Given the description of an element on the screen output the (x, y) to click on. 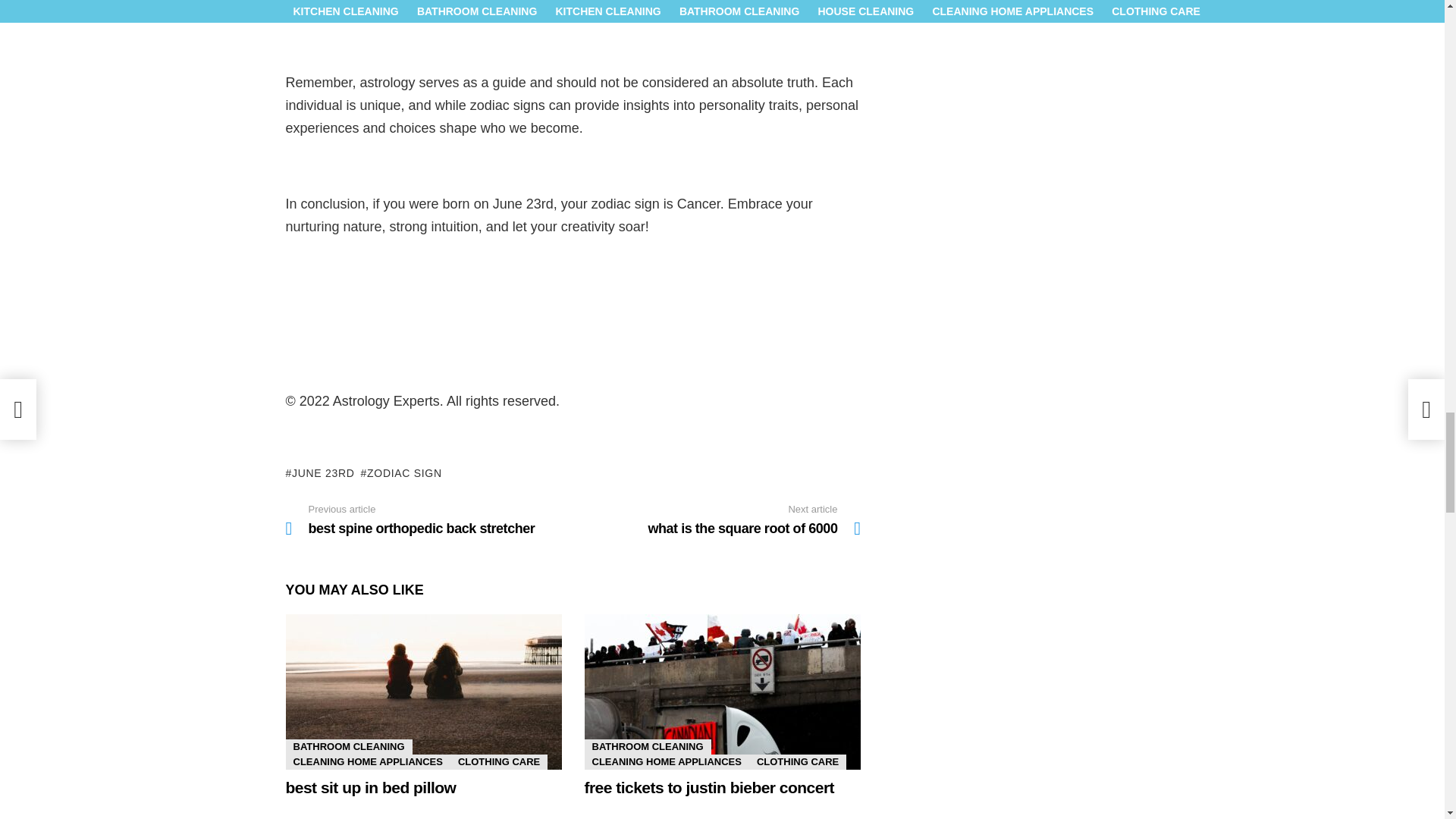
BATHROOM CLEANING (348, 746)
free tickets to justin bieber concert (721, 691)
JUNE 23RD (319, 473)
CLOTHING CARE (797, 761)
CLEANING HOME APPLIANCES (665, 761)
ZODIAC SIGN (401, 473)
best sit up in bed pillow (370, 787)
CLOTHING CARE (498, 761)
free tickets to justin bieber concert (428, 520)
CLEANING HOME APPLIANCES (708, 787)
BATHROOM CLEANING (367, 761)
best sit up in bed pillow (646, 746)
